Given the description of an element on the screen output the (x, y) to click on. 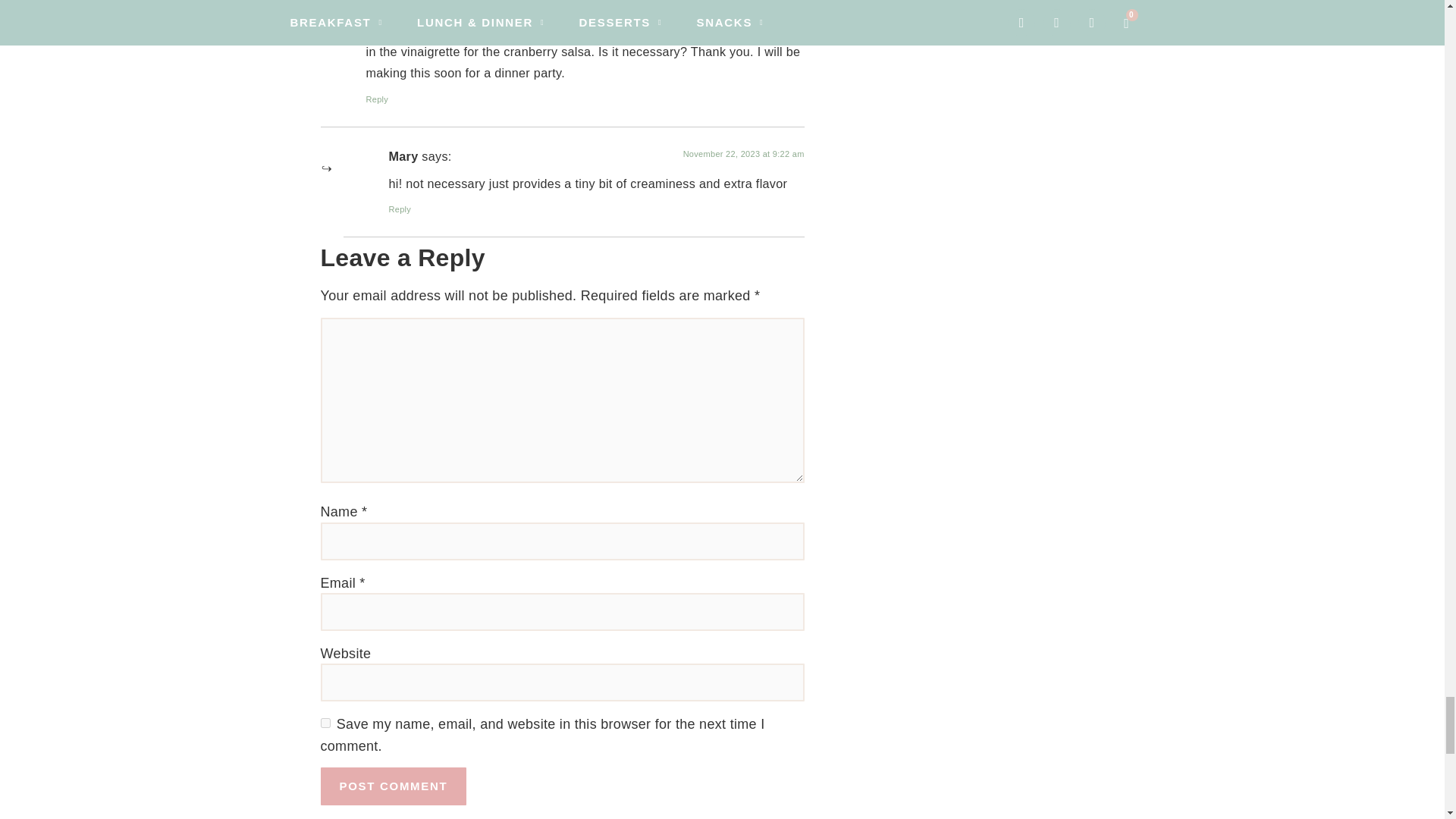
Post Comment (392, 786)
yes (325, 723)
